Given the description of an element on the screen output the (x, y) to click on. 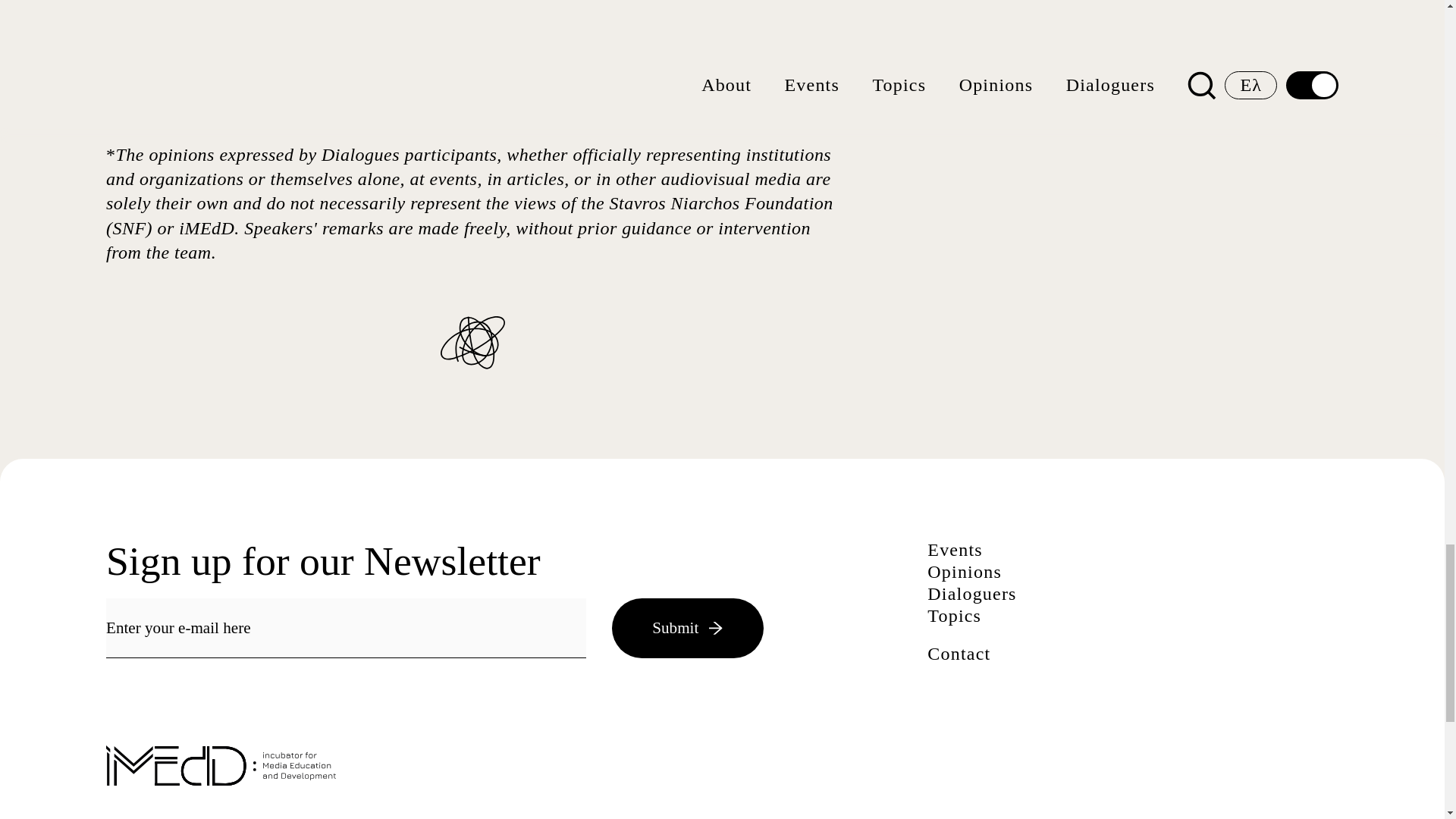
Dialoguers (971, 593)
Topics (954, 615)
Opinions (964, 571)
Submit (686, 628)
Events (954, 549)
